Given the description of an element on the screen output the (x, y) to click on. 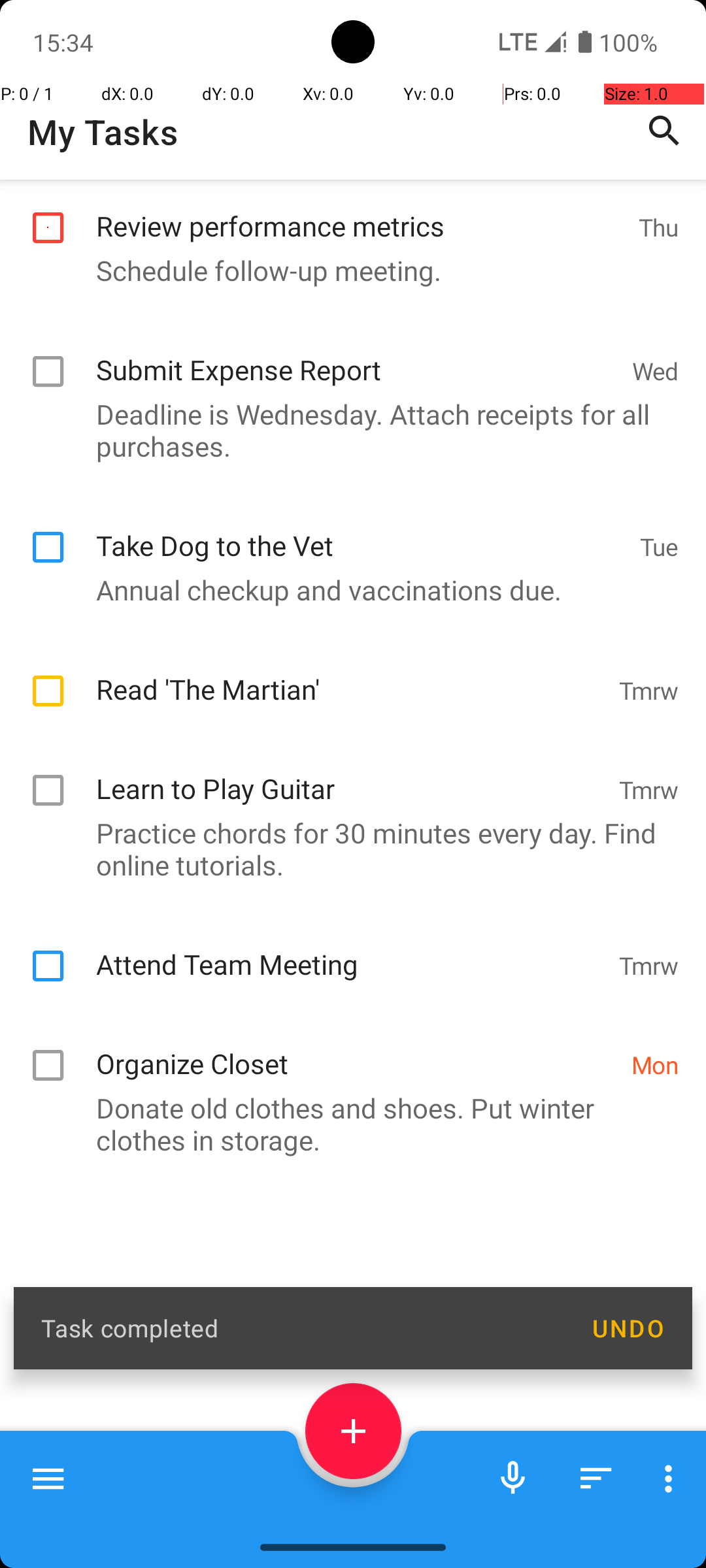
Task completed Element type: android.widget.TextView (302, 1327)
UNDO Element type: android.widget.Button (627, 1328)
Review performance metrics Element type: android.widget.TextView (360, 301)
Schedule follow-up meeting. Element type: android.widget.TextView (346, 359)
Annual checkup and vaccinations due. Element type: android.widget.TextView (346, 672)
